Given the description of an element on the screen output the (x, y) to click on. 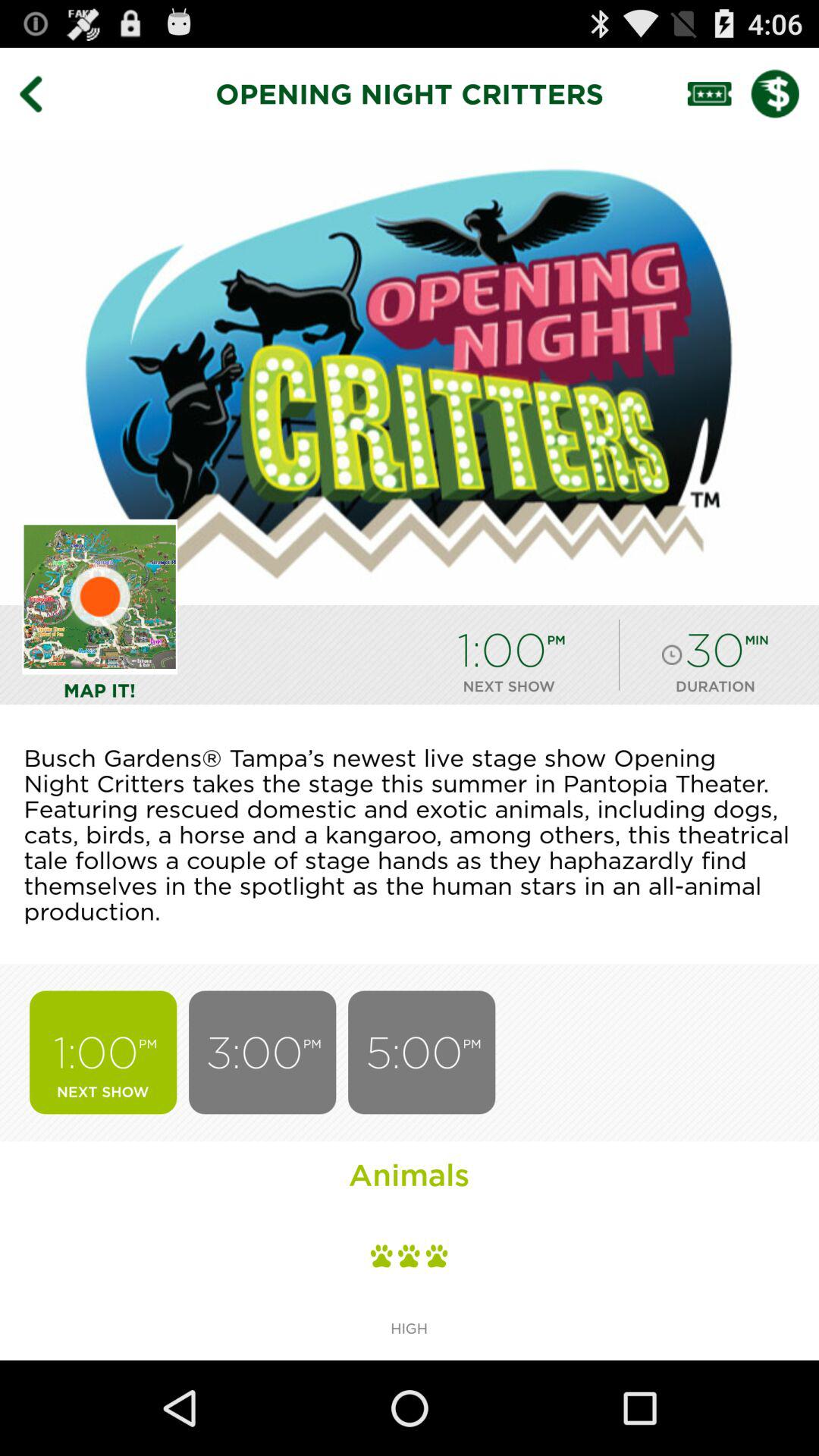
add new location (99, 596)
